Given the description of an element on the screen output the (x, y) to click on. 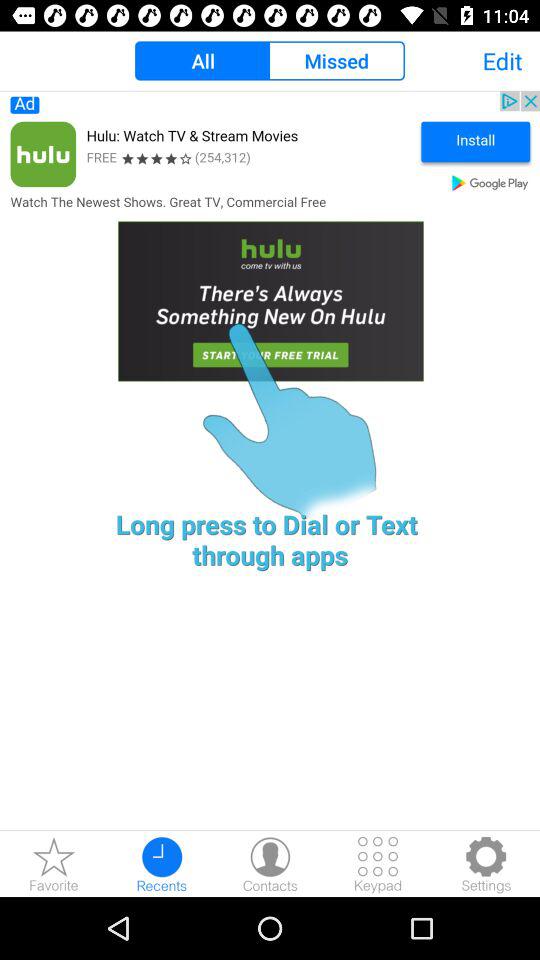
contacts detail (269, 864)
